Given the description of an element on the screen output the (x, y) to click on. 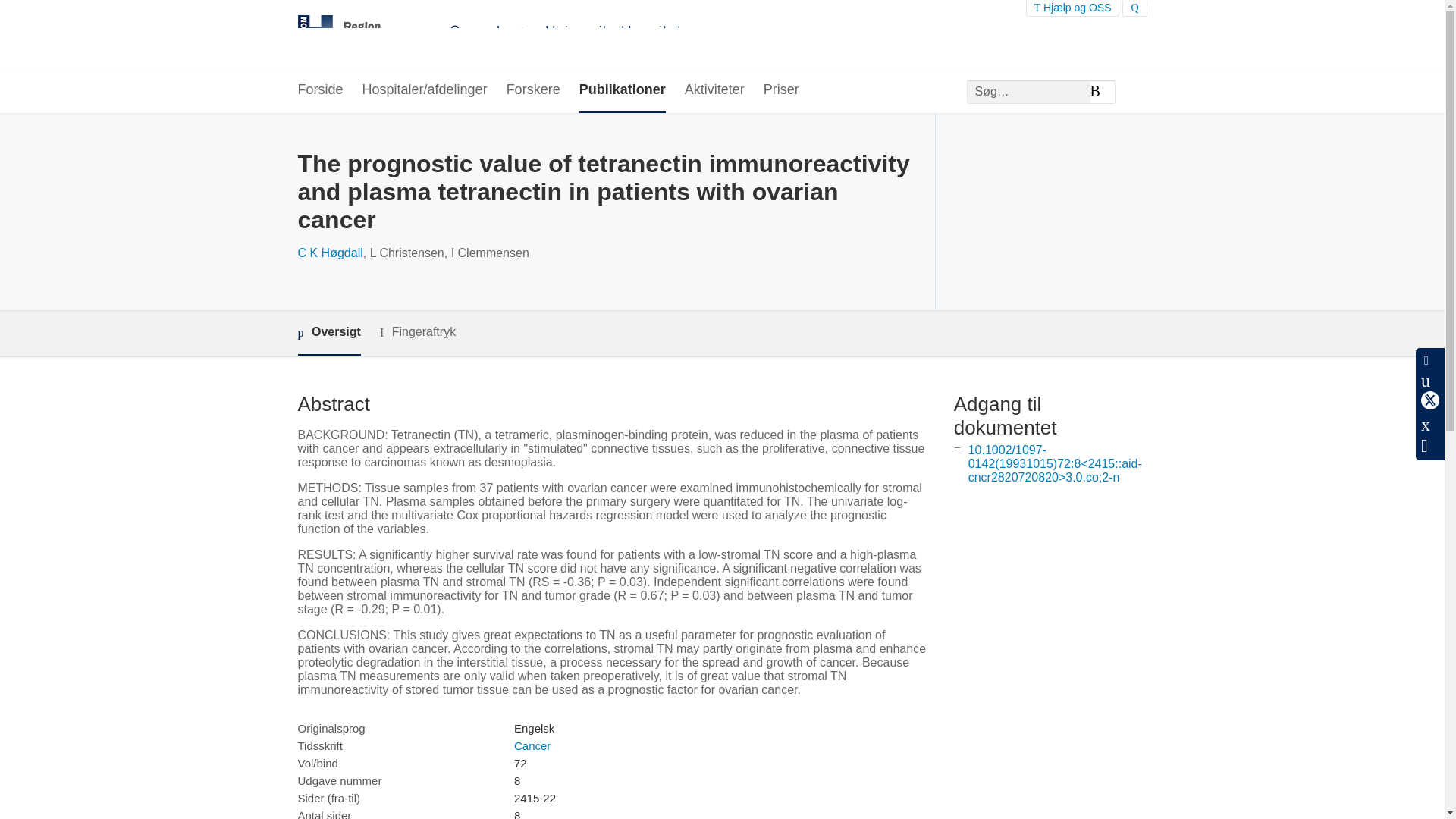
Forskere (533, 90)
Publikationer (622, 90)
Fingeraftryk (417, 332)
Aktiviteter (714, 90)
Region Hovedstadens forskningsportal Forside (492, 34)
Oversigt (328, 333)
Forside (319, 90)
Cancer (531, 745)
